Given the description of an element on the screen output the (x, y) to click on. 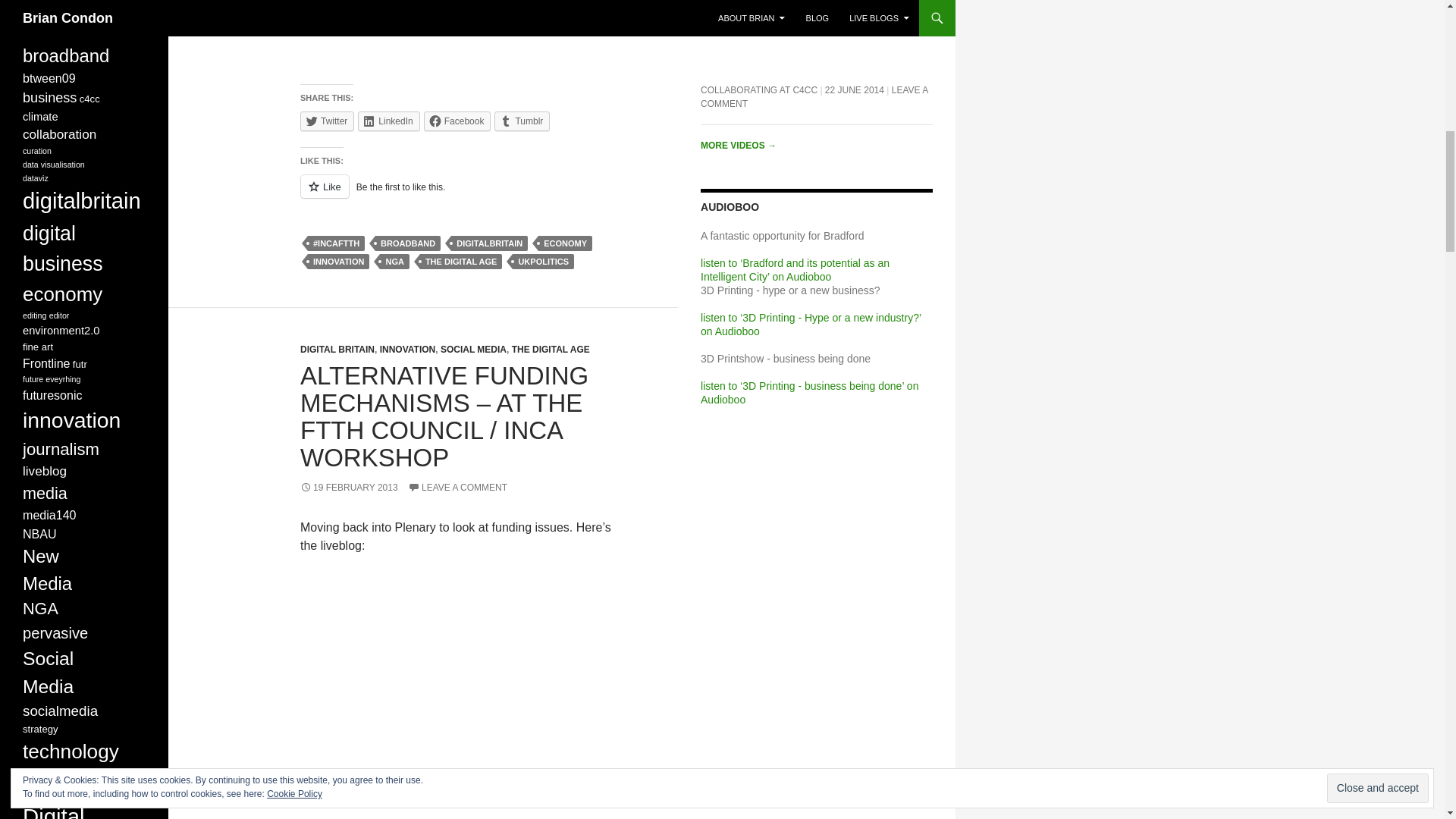
Tumblr (522, 121)
Click to share on Tumblr (522, 121)
Click to share on LinkedIn (388, 121)
Click to share on Facebook (457, 121)
Click to share on Twitter (326, 121)
DIGITALBRITAIN (489, 242)
Like or Reblog (456, 195)
LinkedIn (388, 121)
Facebook (457, 121)
NGA (394, 261)
INNOVATION (338, 261)
Twitter (326, 121)
BROADBAND (408, 242)
ECONOMY (565, 242)
